Given the description of an element on the screen output the (x, y) to click on. 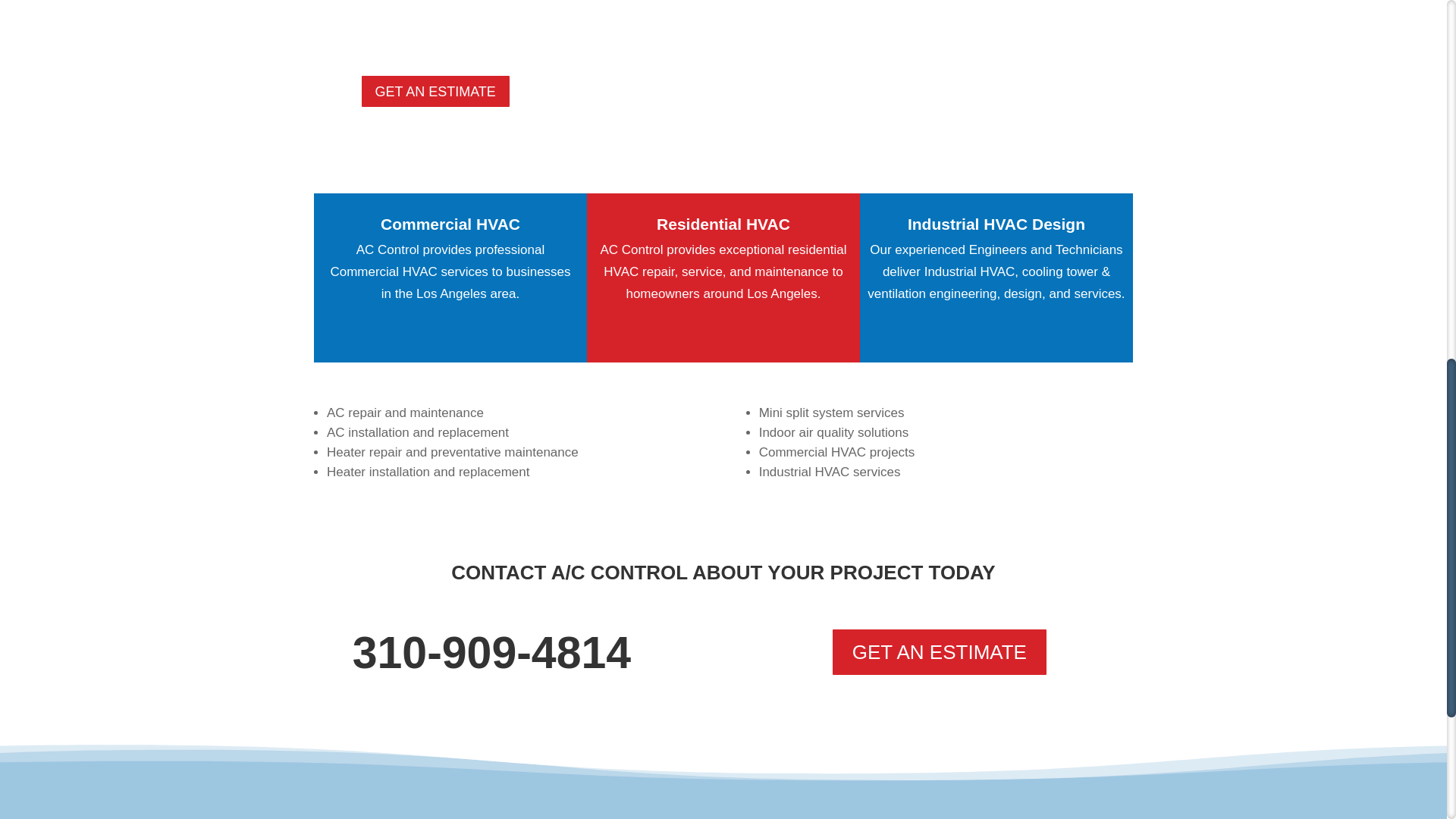
GET AN ESTIMATE (939, 652)
GET AN ESTIMATE (435, 91)
ac-control-logo (379, 805)
